Given the description of an element on the screen output the (x, y) to click on. 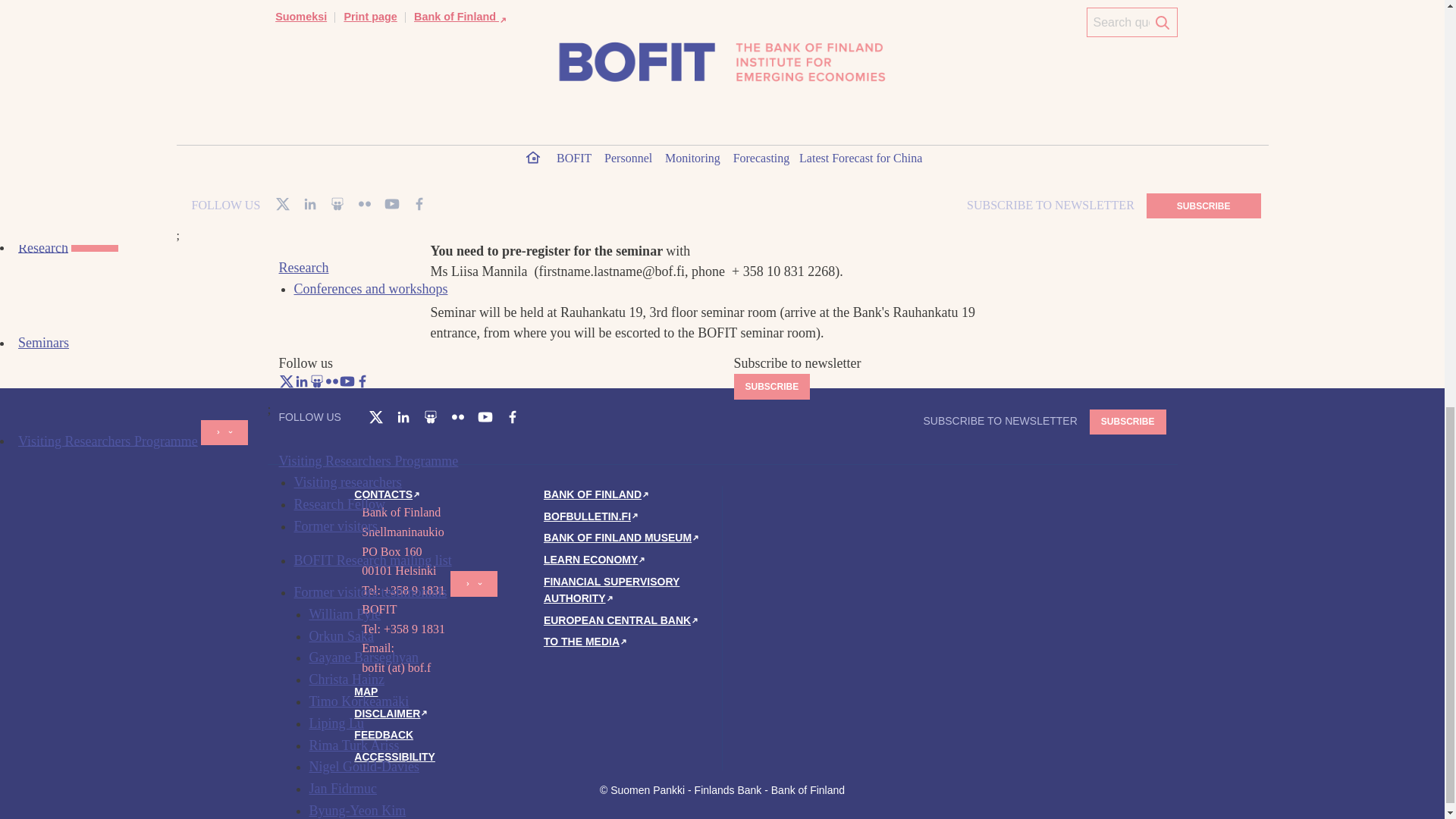
European Central Bank (622, 620)
Map (365, 691)
Contacts (388, 494)
Accessibility (394, 756)
Bank of Finland museum (622, 537)
Financial Supervisory Authority (611, 589)
bofbulletin.fi (592, 516)
